Given the description of an element on the screen output the (x, y) to click on. 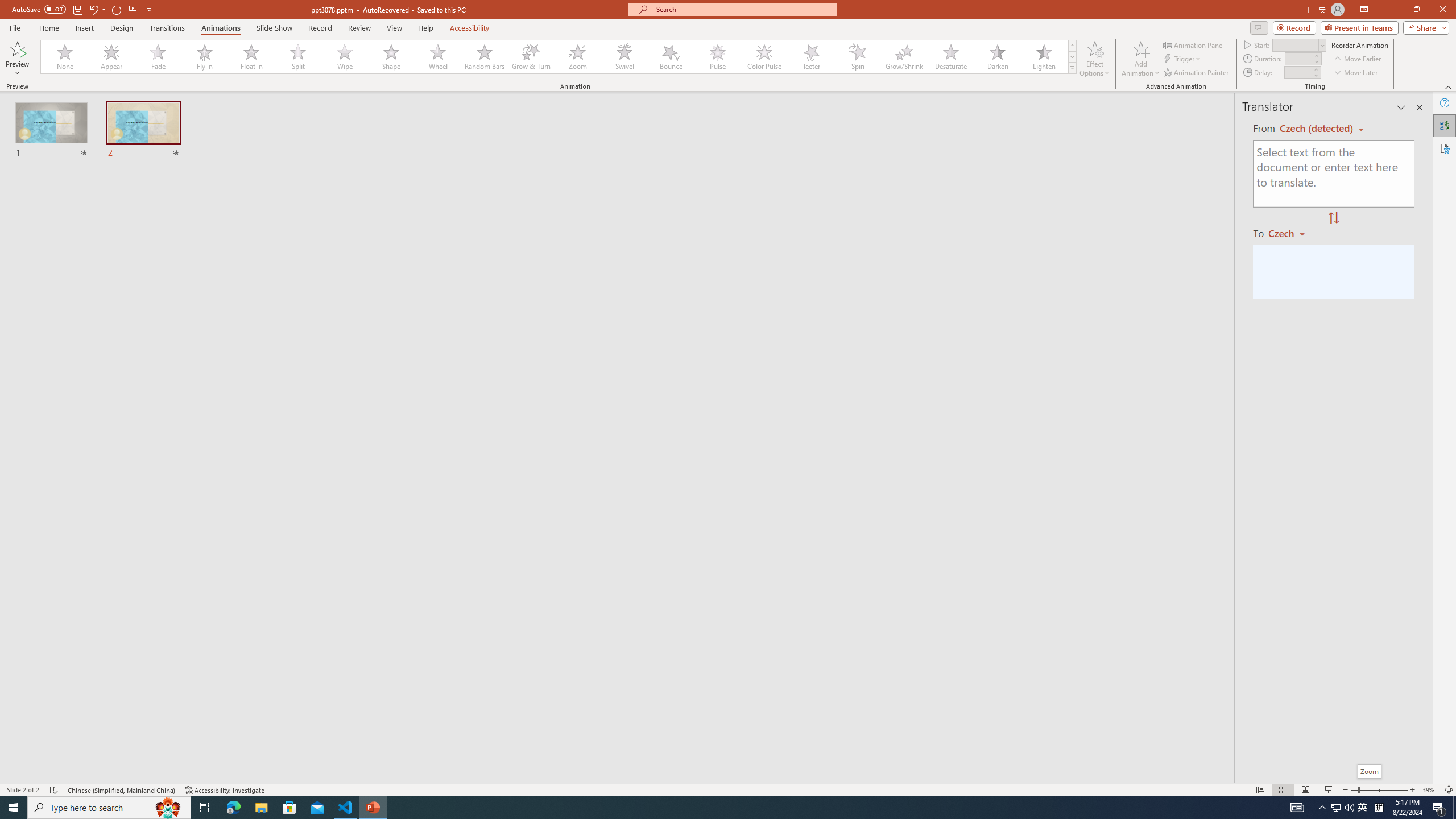
Swap "from" and "to" languages. (1333, 218)
Float In (251, 56)
Czech (1291, 232)
Animation Delay (1297, 72)
